Given the description of an element on the screen output the (x, y) to click on. 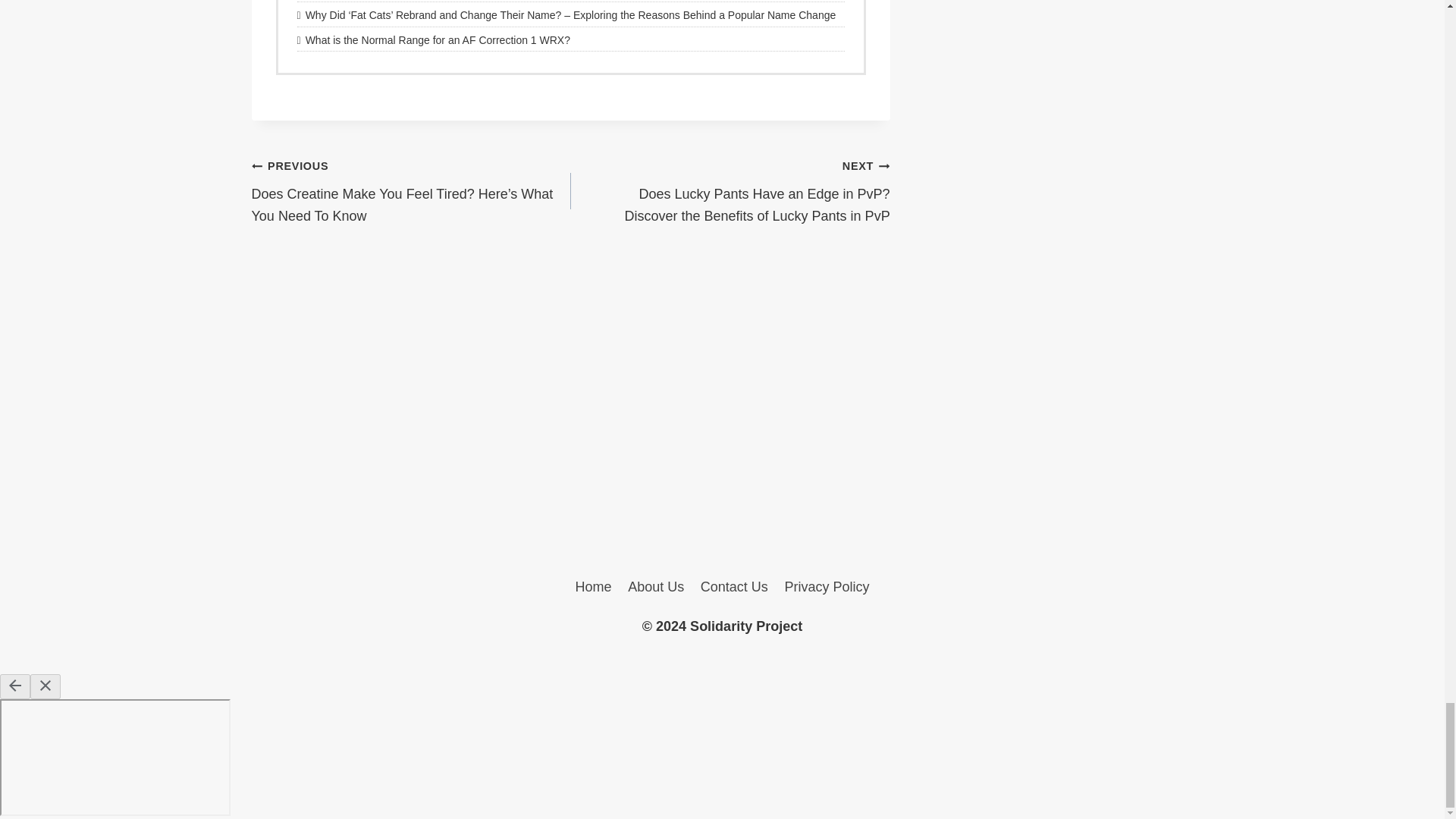
About Us (656, 587)
Home (593, 587)
What is the Normal Range for an AF Correction 1 WRX? (570, 39)
Privacy Policy (826, 587)
Contact Us (734, 587)
